Given the description of an element on the screen output the (x, y) to click on. 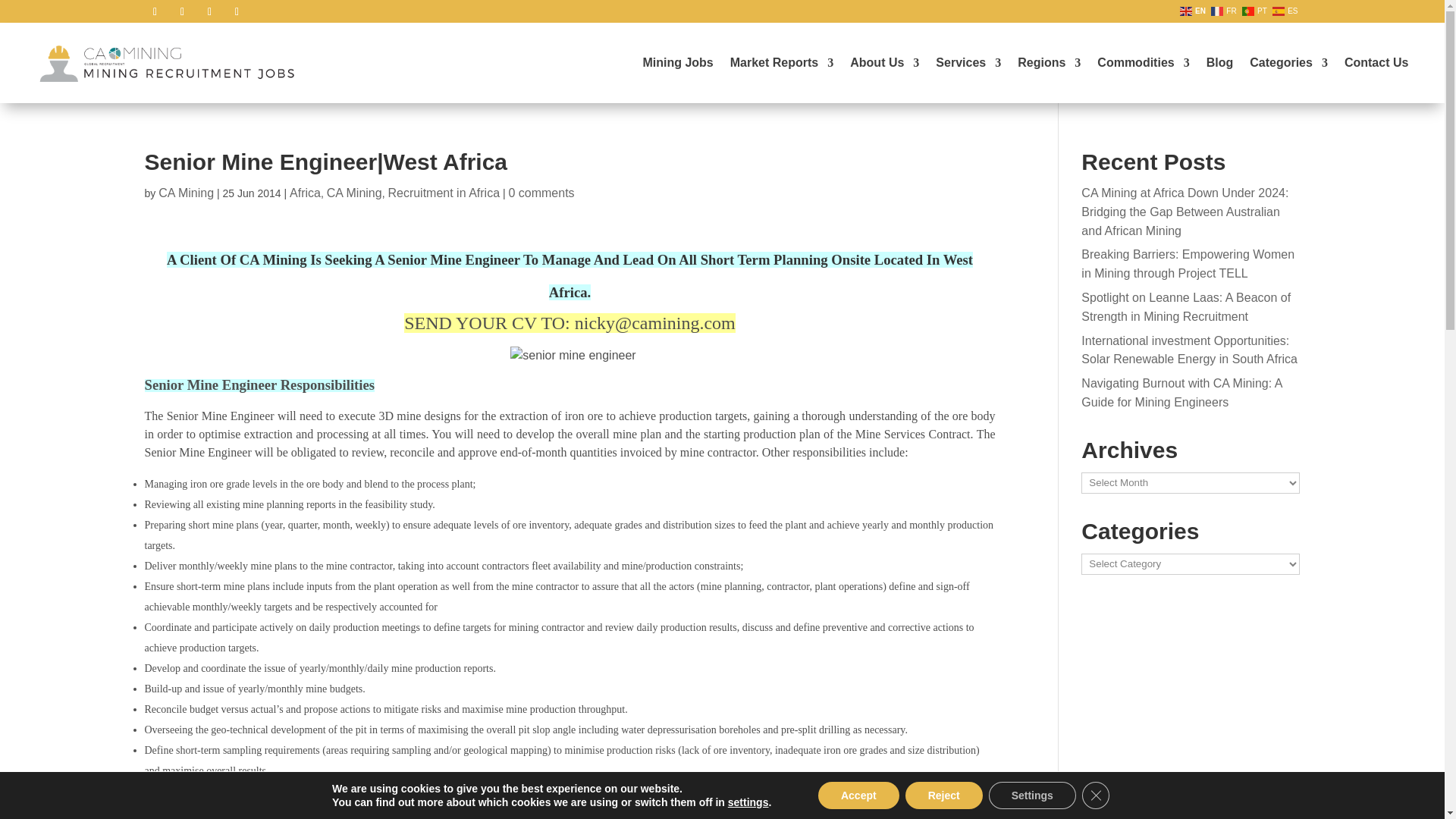
Market Reports (781, 62)
PT (1255, 10)
FR (1225, 10)
Portuguese (1255, 10)
French (1225, 10)
English (1193, 10)
ES (1286, 10)
Spanish (1286, 10)
Services (968, 62)
Follow on Instagram (208, 11)
